Given the description of an element on the screen output the (x, y) to click on. 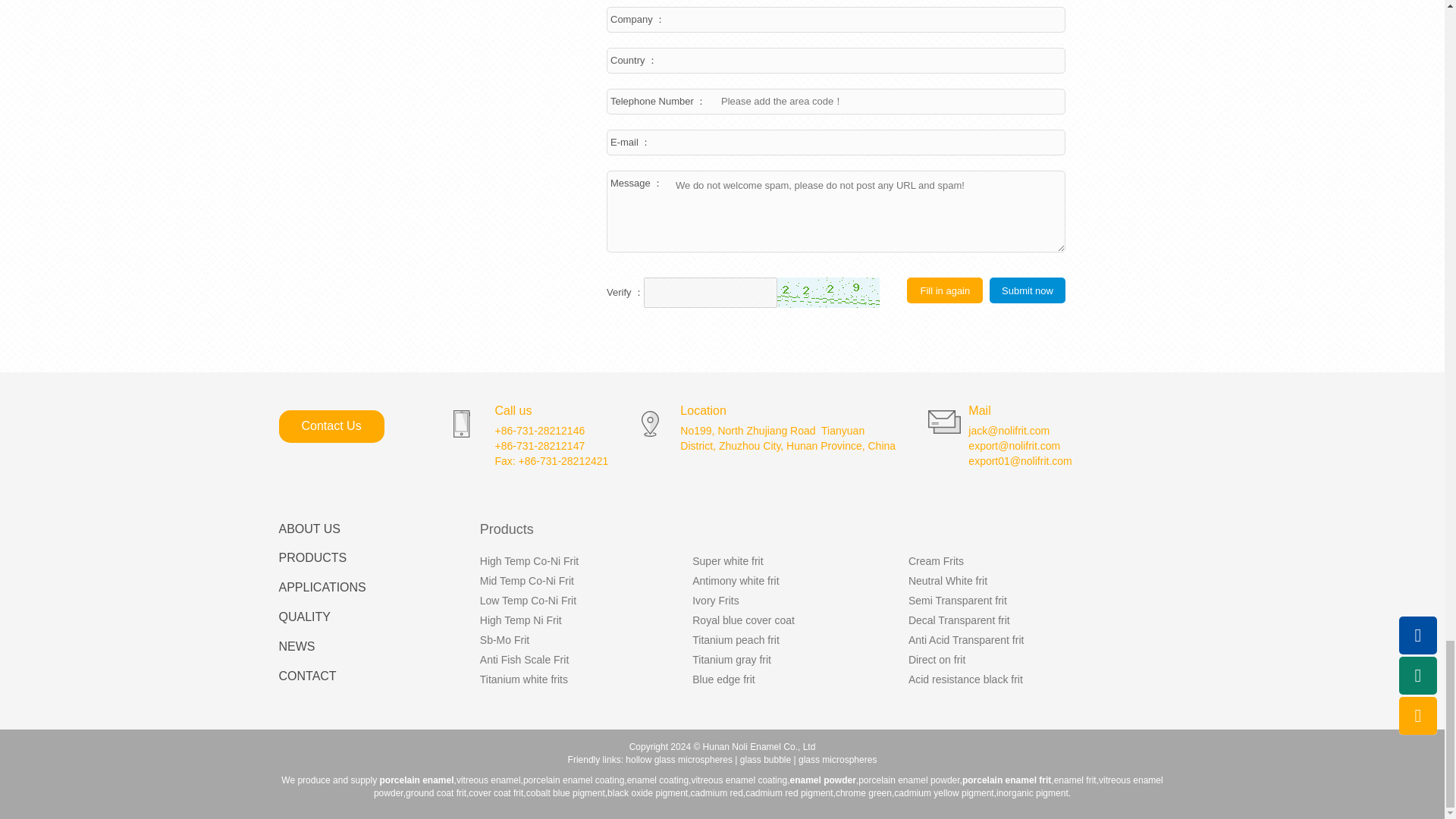
Fill in again (944, 290)
Not Clear? From Another Picture. (828, 292)
Submit now (1027, 290)
Submit now (1027, 290)
